Given the description of an element on the screen output the (x, y) to click on. 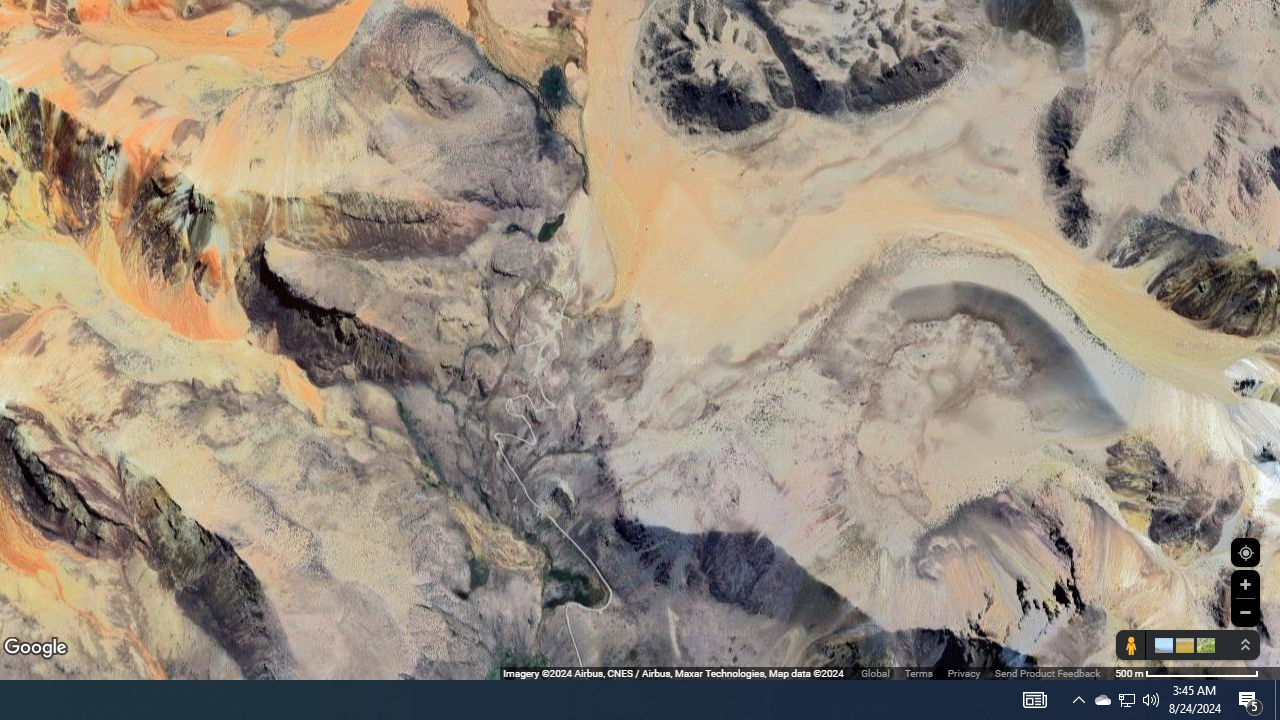
Global (875, 672)
Show Street View coverage (1130, 645)
Show imagery (1202, 645)
Zoom in (1245, 584)
500 m (1186, 672)
Send Product Feedback (1047, 672)
Zoom out (1245, 612)
Show Your Location (1245, 552)
